Given the description of an element on the screen output the (x, y) to click on. 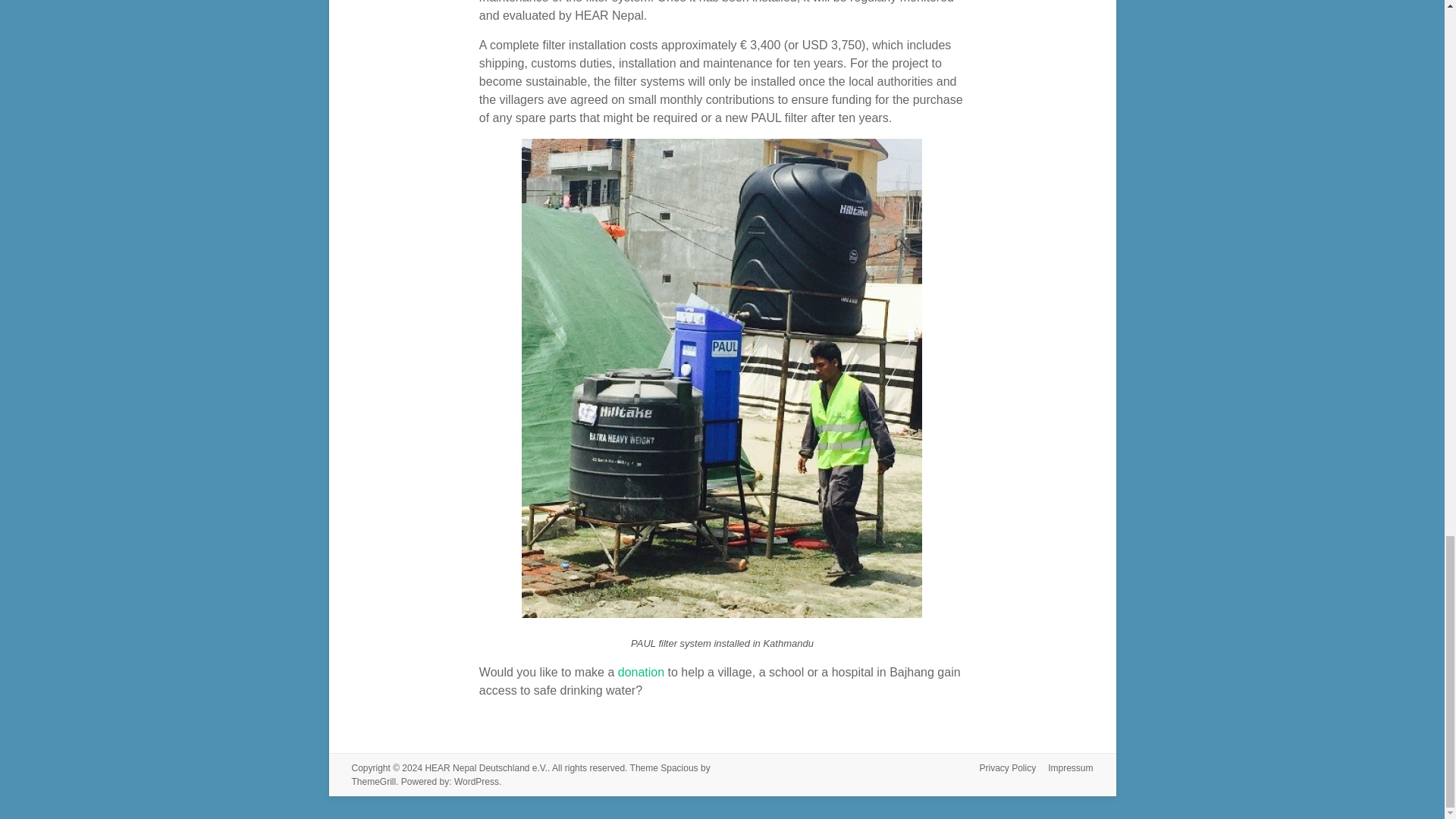
WordPress (476, 781)
Privacy Policy (1000, 769)
HEAR Nepal Deutschland e.V. (486, 767)
WordPress (476, 781)
Spacious (679, 767)
Impressum (1064, 769)
donation (640, 671)
Spacious (679, 767)
HEAR Nepal Deutschland e.V. (486, 767)
